Given the description of an element on the screen output the (x, y) to click on. 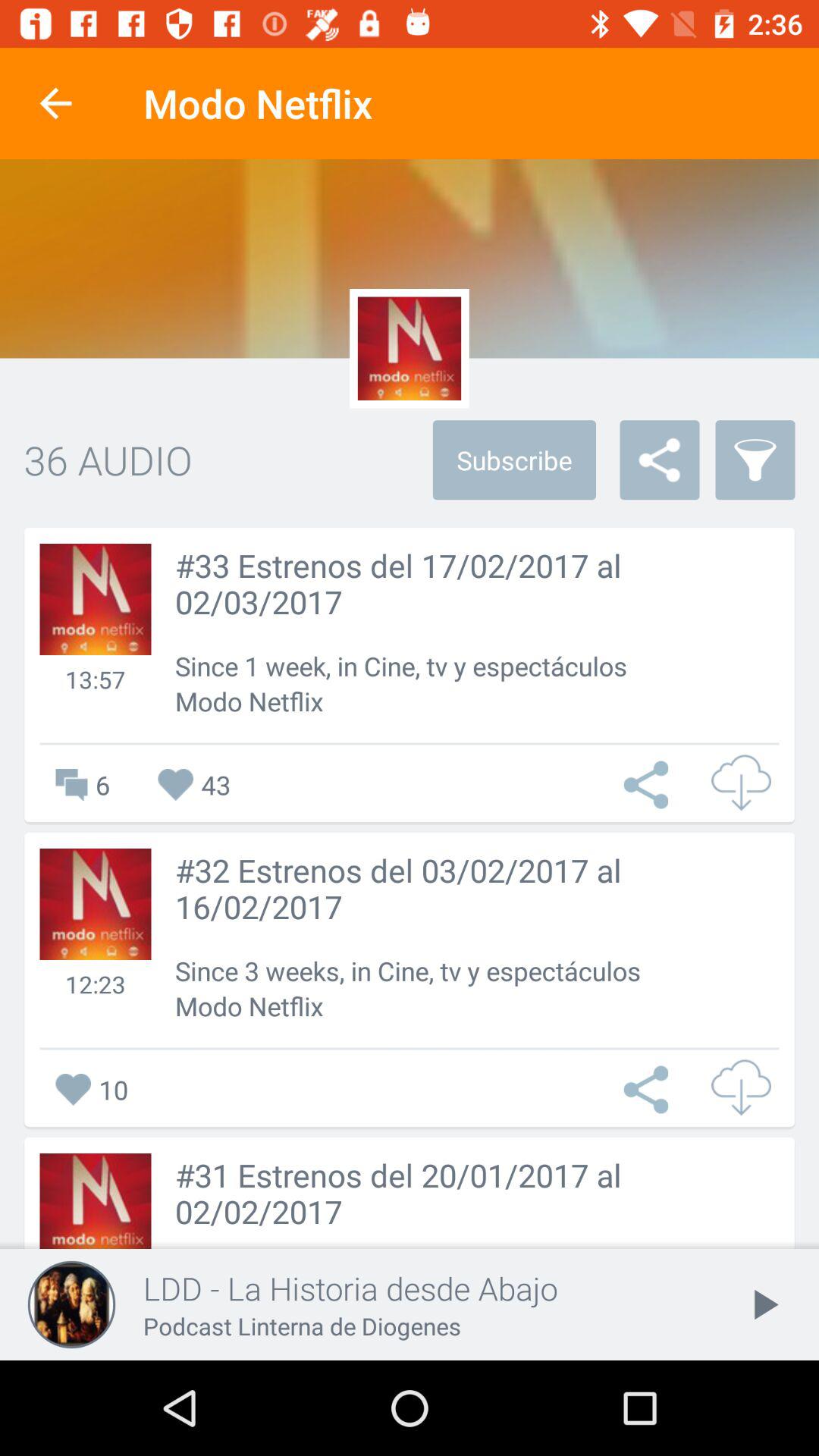
choose icon next to 36 audio item (514, 459)
